Given the description of an element on the screen output the (x, y) to click on. 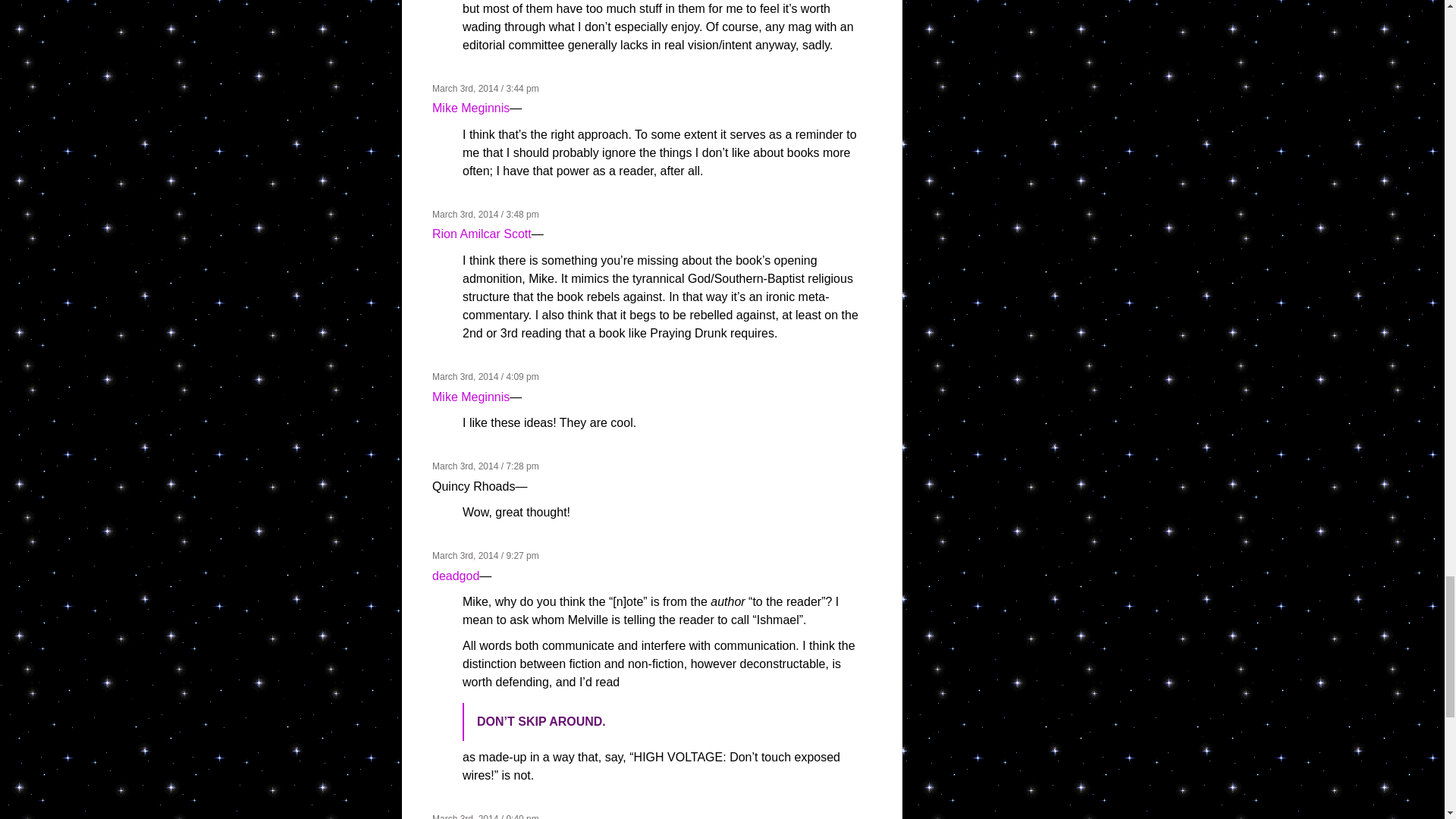
deadgod (455, 575)
Mike Meginnis (470, 107)
Mike Meginnis (470, 395)
Rion Amilcar Scott (481, 233)
